Given the description of an element on the screen output the (x, y) to click on. 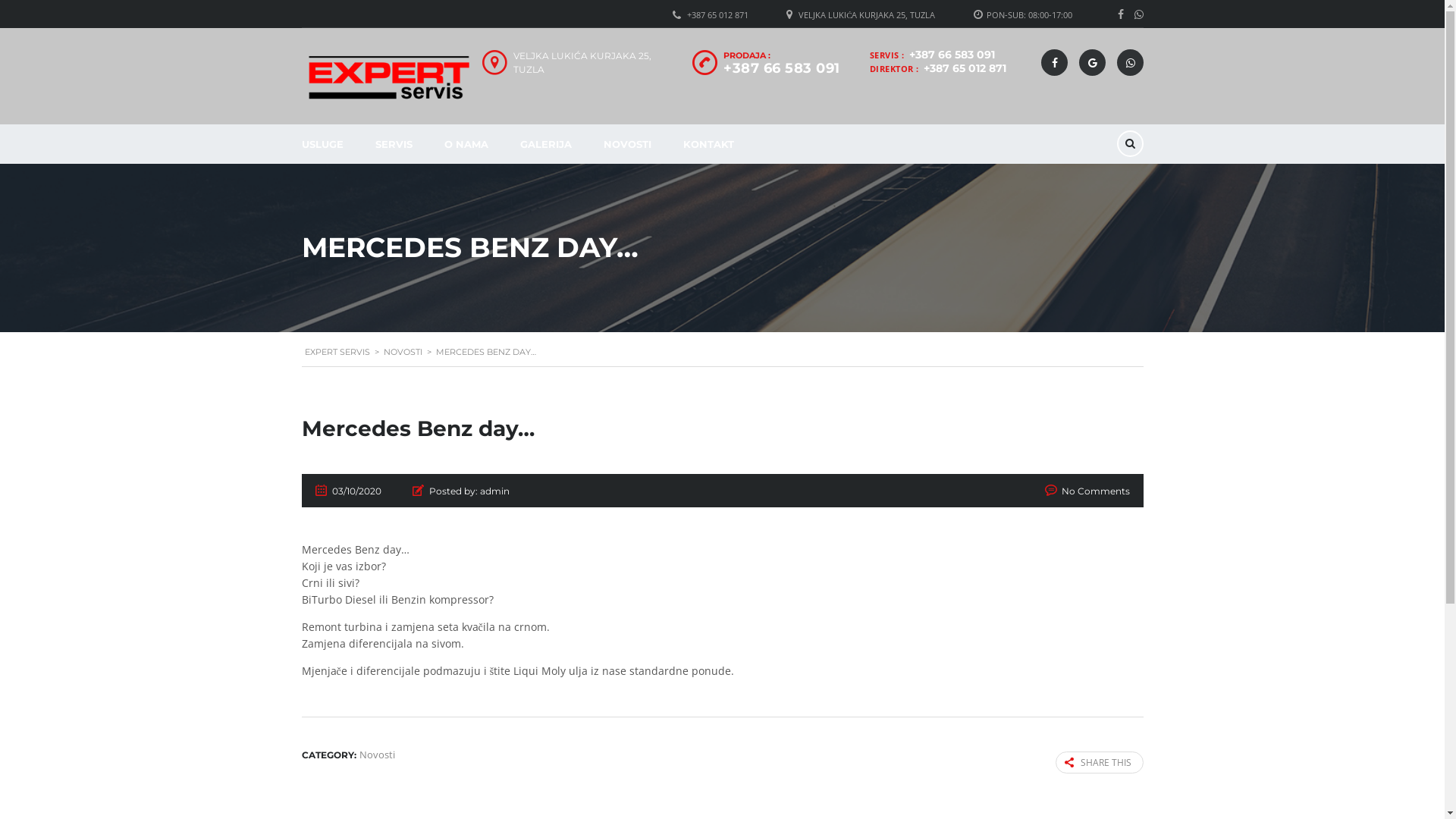
EXPERT SERVIS Element type: text (337, 351)
NOVOSTI Element type: text (626, 143)
NOVOSTI Element type: text (402, 351)
+387 65 012 871 Element type: text (964, 68)
+387 66 583 091 Element type: text (951, 54)
No Comments Element type: text (1095, 490)
Novosti Element type: text (377, 754)
+387 65 012 871 Element type: text (717, 14)
GALERIJA Element type: text (544, 143)
KONTAKT Element type: text (708, 143)
USLUGE Element type: text (321, 143)
O NAMA Element type: text (465, 143)
Home Element type: hover (388, 77)
SERVIS Element type: text (393, 143)
+387 66 583 091 Element type: text (781, 67)
SHARE THIS Element type: text (1099, 762)
